Given the description of an element on the screen output the (x, y) to click on. 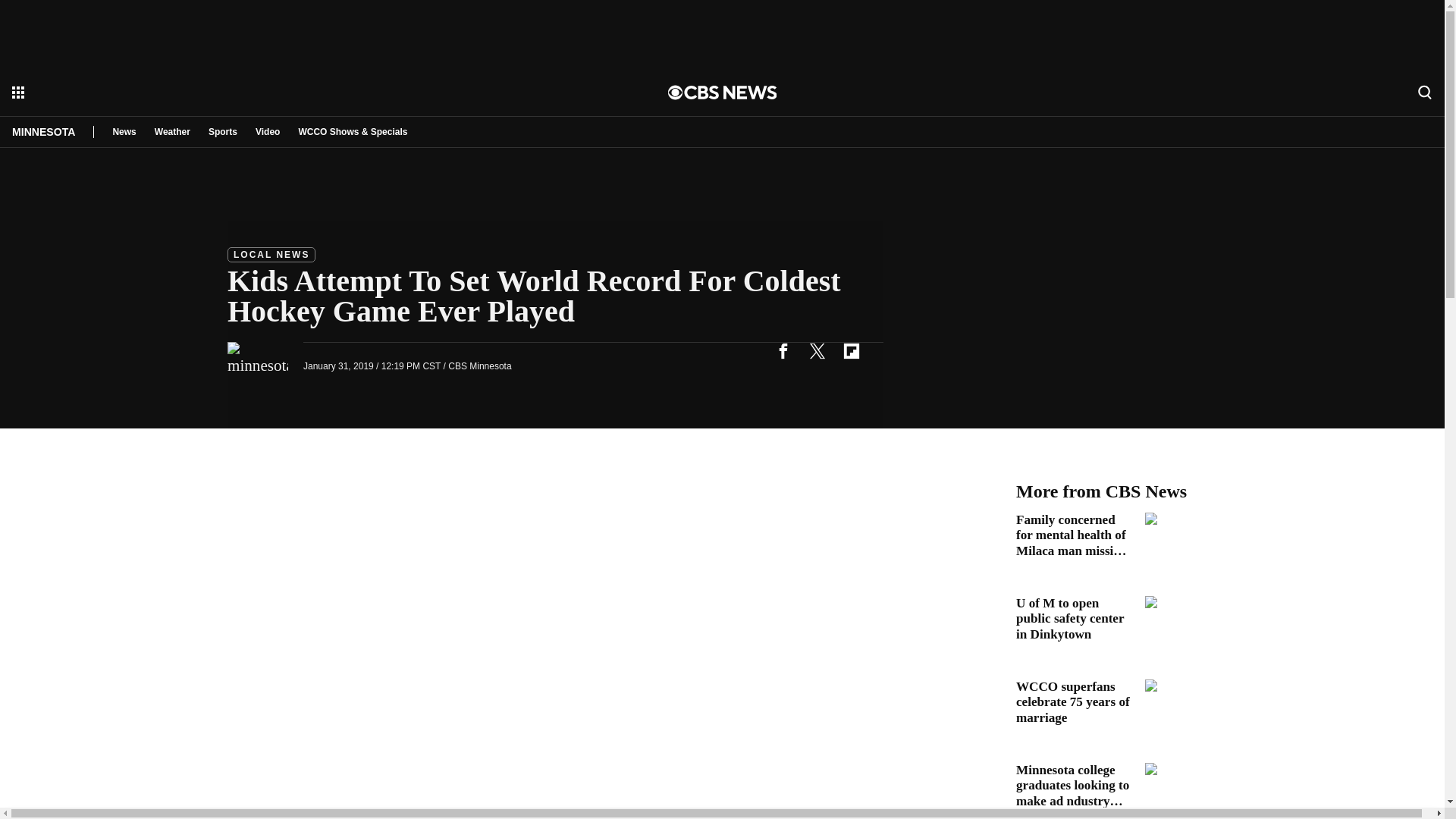
facebook (782, 350)
twitter (816, 350)
flipboard (850, 350)
